Given the description of an element on the screen output the (x, y) to click on. 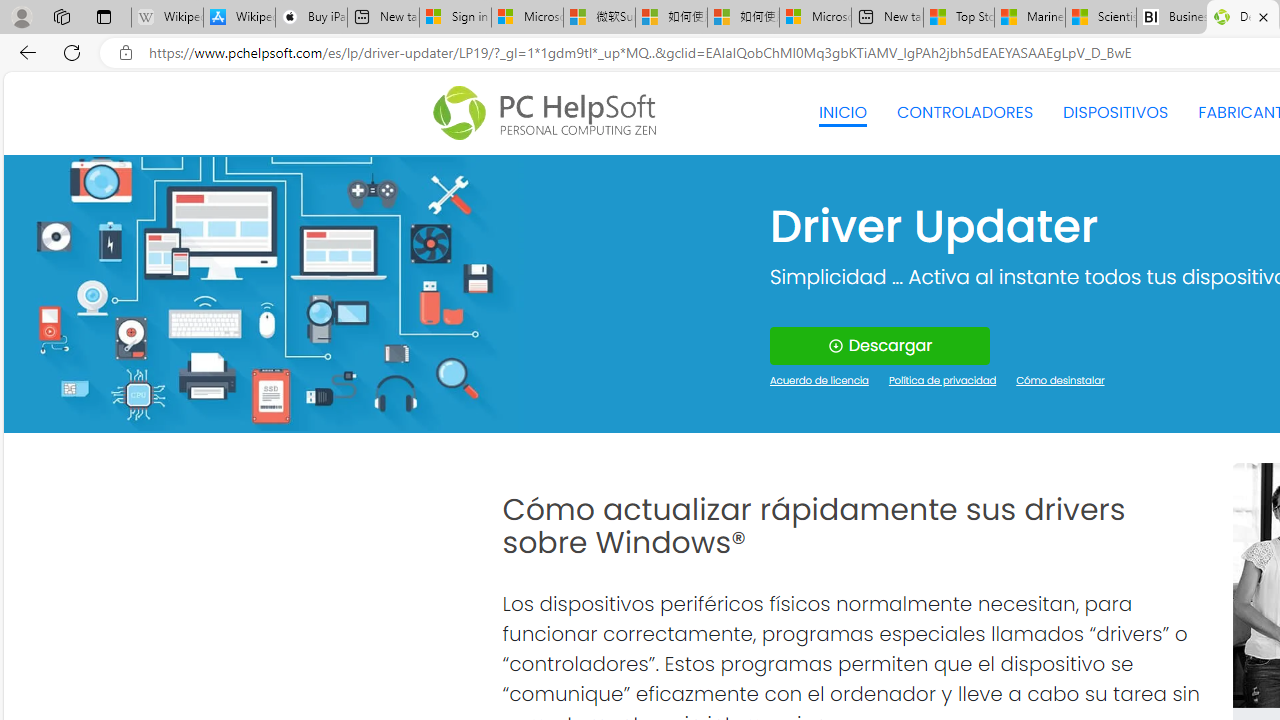
Logo Personal Computing (550, 113)
Download Icon Descargar (879, 345)
Marine life - MSN (1029, 17)
Microsoft account | Account Checkup (815, 17)
Wikipedia - Sleeping (167, 17)
Logo Personal Computing (550, 113)
